Given the description of an element on the screen output the (x, y) to click on. 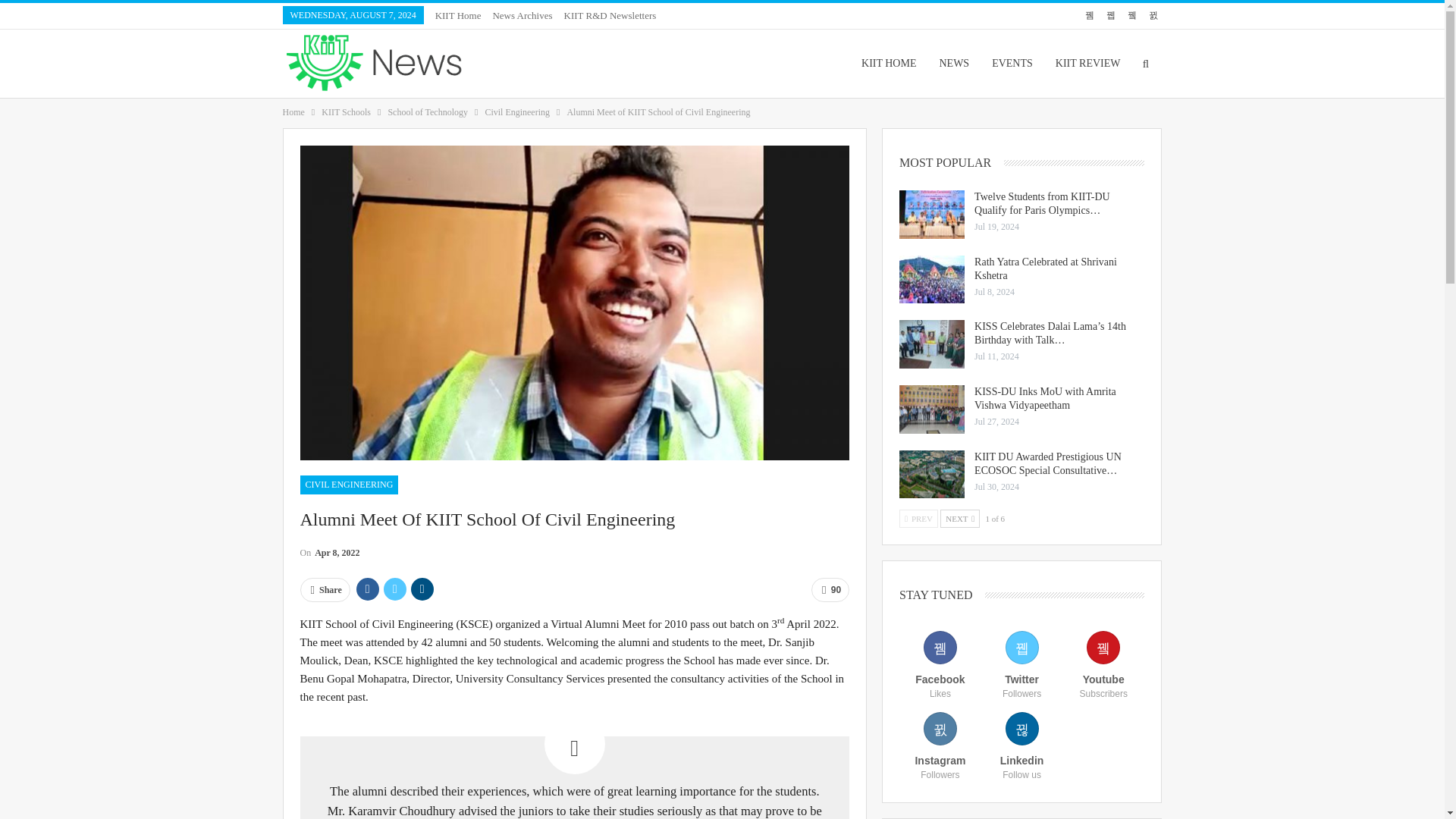
Home (293, 112)
KIIT REVIEW (1087, 63)
News Archives (521, 15)
Rath Yatra Celebrated at Shrivani Kshetra (931, 279)
School of Technology (427, 112)
CIVIL ENGINEERING (348, 484)
KIIT Schools (346, 112)
KIIT HOME (888, 63)
Civil Engineering (517, 112)
KIIT Home (458, 15)
EVENTS (1011, 63)
